Given the description of an element on the screen output the (x, y) to click on. 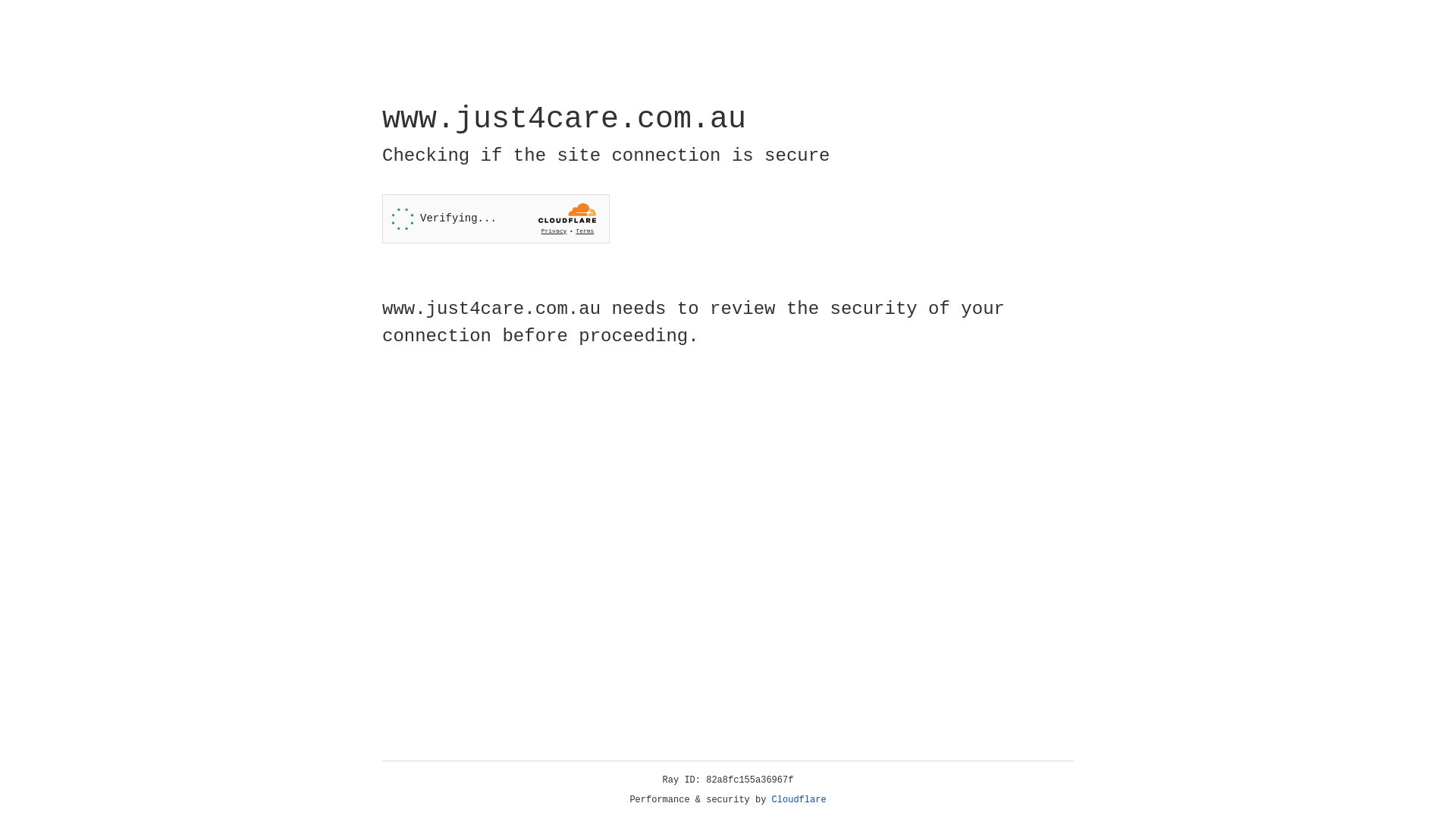
Cloudflare Element type: text (798, 799)
Widget containing a Cloudflare security challenge Element type: hover (495, 218)
